Given the description of an element on the screen output the (x, y) to click on. 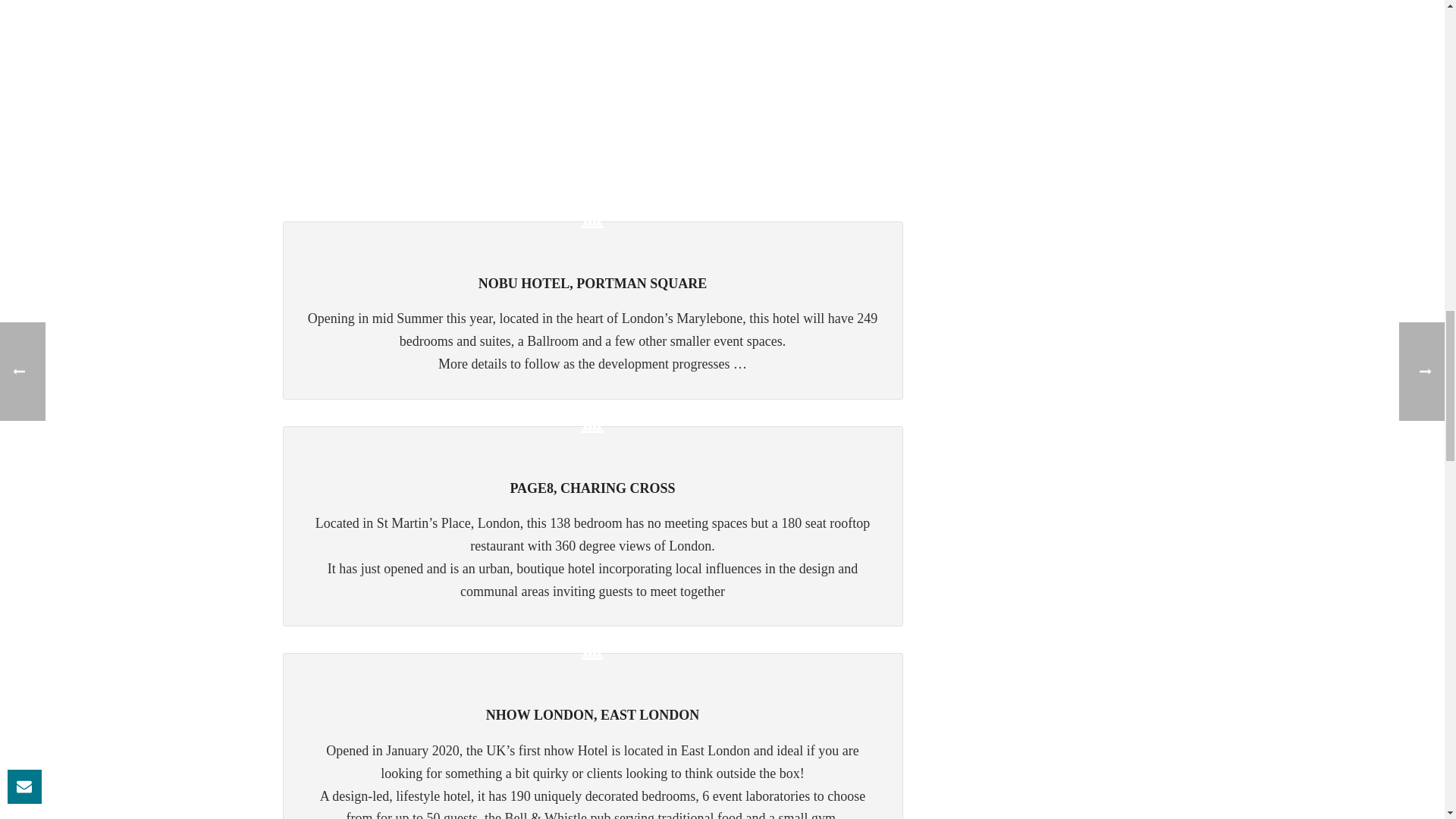
pan-pacific-london-external-tower (592, 84)
